Given the description of an element on the screen output the (x, y) to click on. 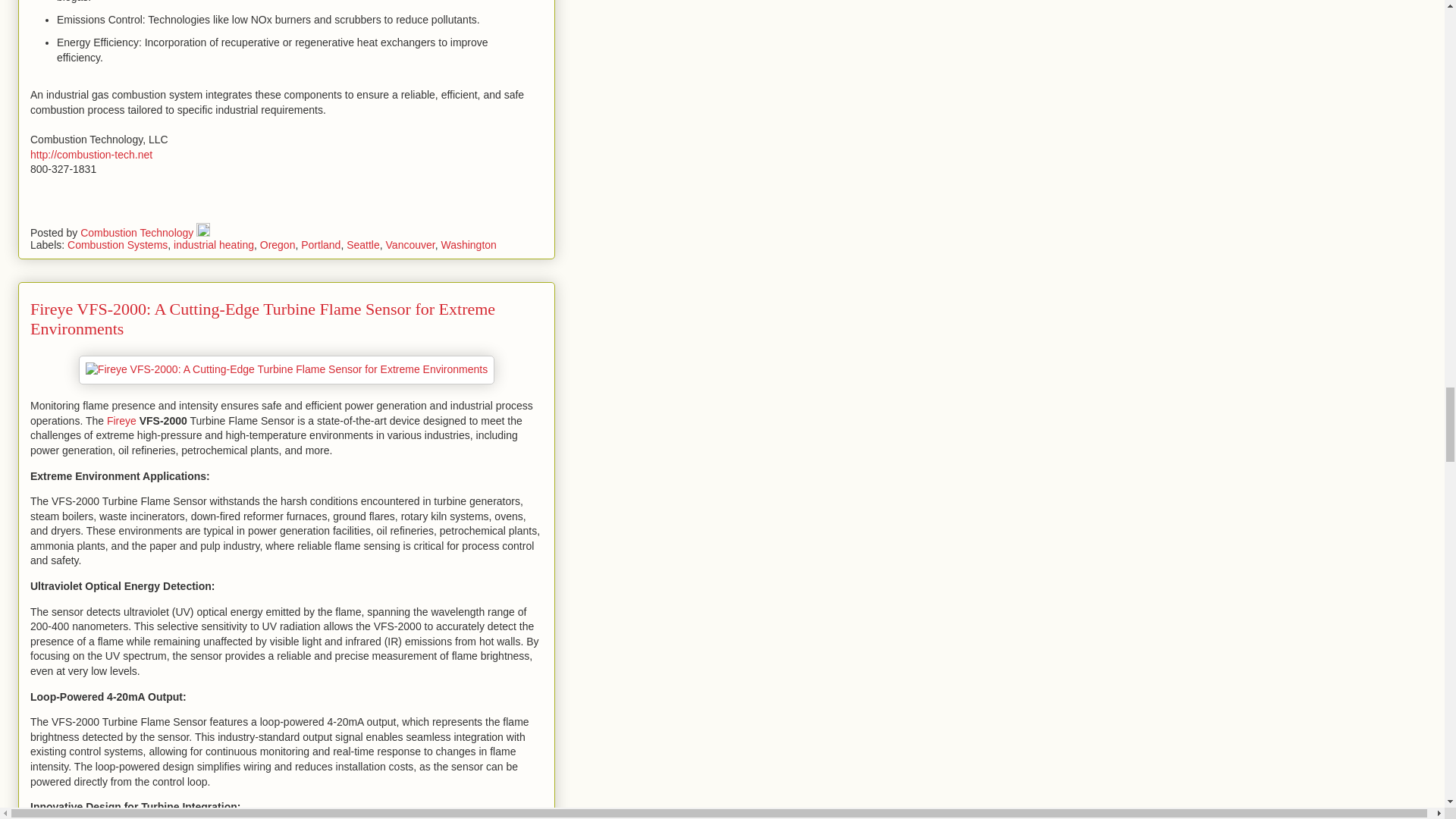
author profile (138, 232)
Edit Post (202, 232)
Combustion Technology (138, 232)
Washington (468, 244)
Seattle (363, 244)
industrial heating (213, 244)
Combustion Systems (116, 244)
Vancouver (410, 244)
